Given the description of an element on the screen output the (x, y) to click on. 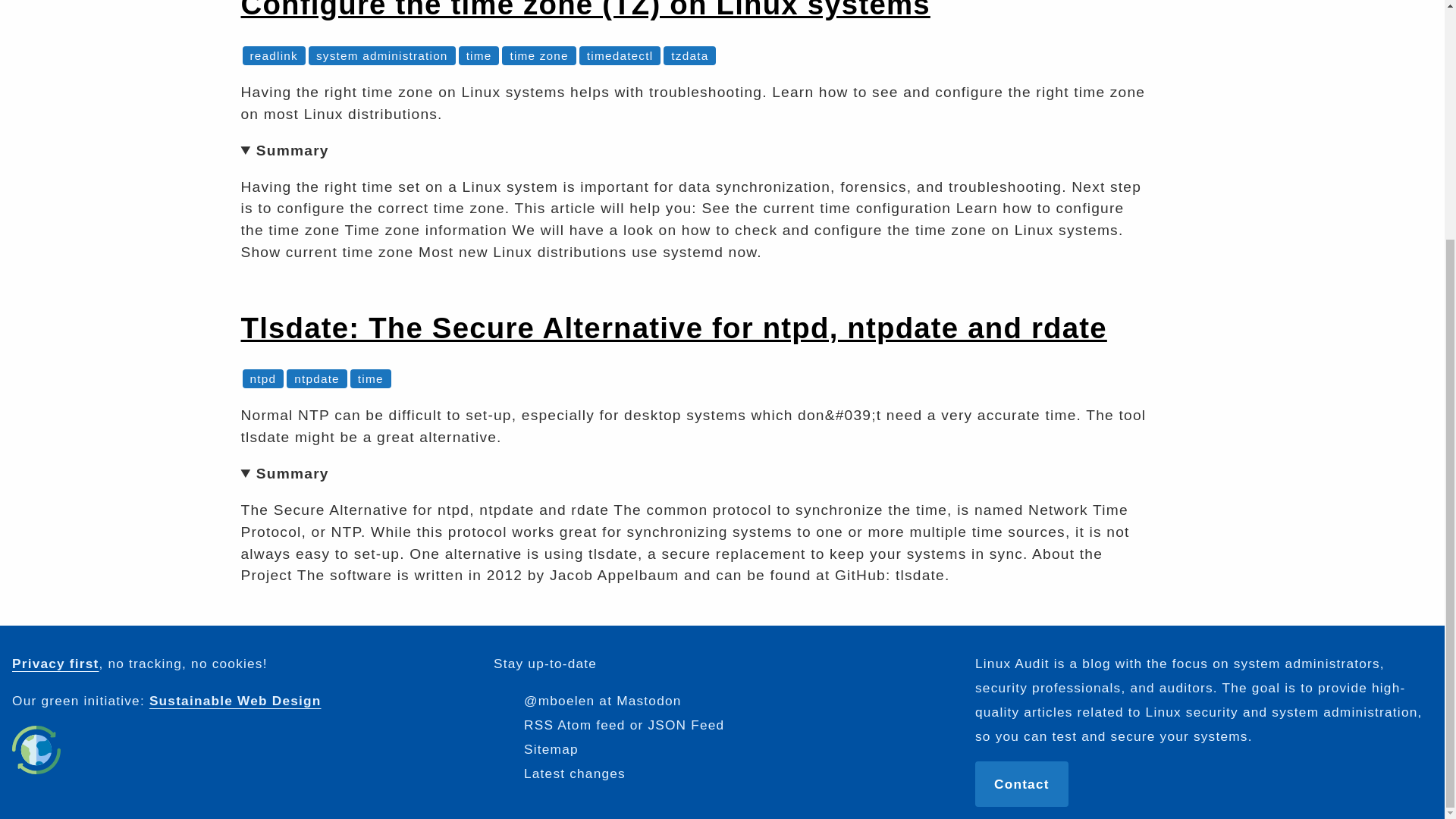
Learn more about the sustainable web design of this blog (36, 749)
system administration (381, 55)
time zone (538, 55)
readlink (274, 55)
tzdata (689, 55)
time (478, 55)
timedatectl (619, 55)
